Given the description of an element on the screen output the (x, y) to click on. 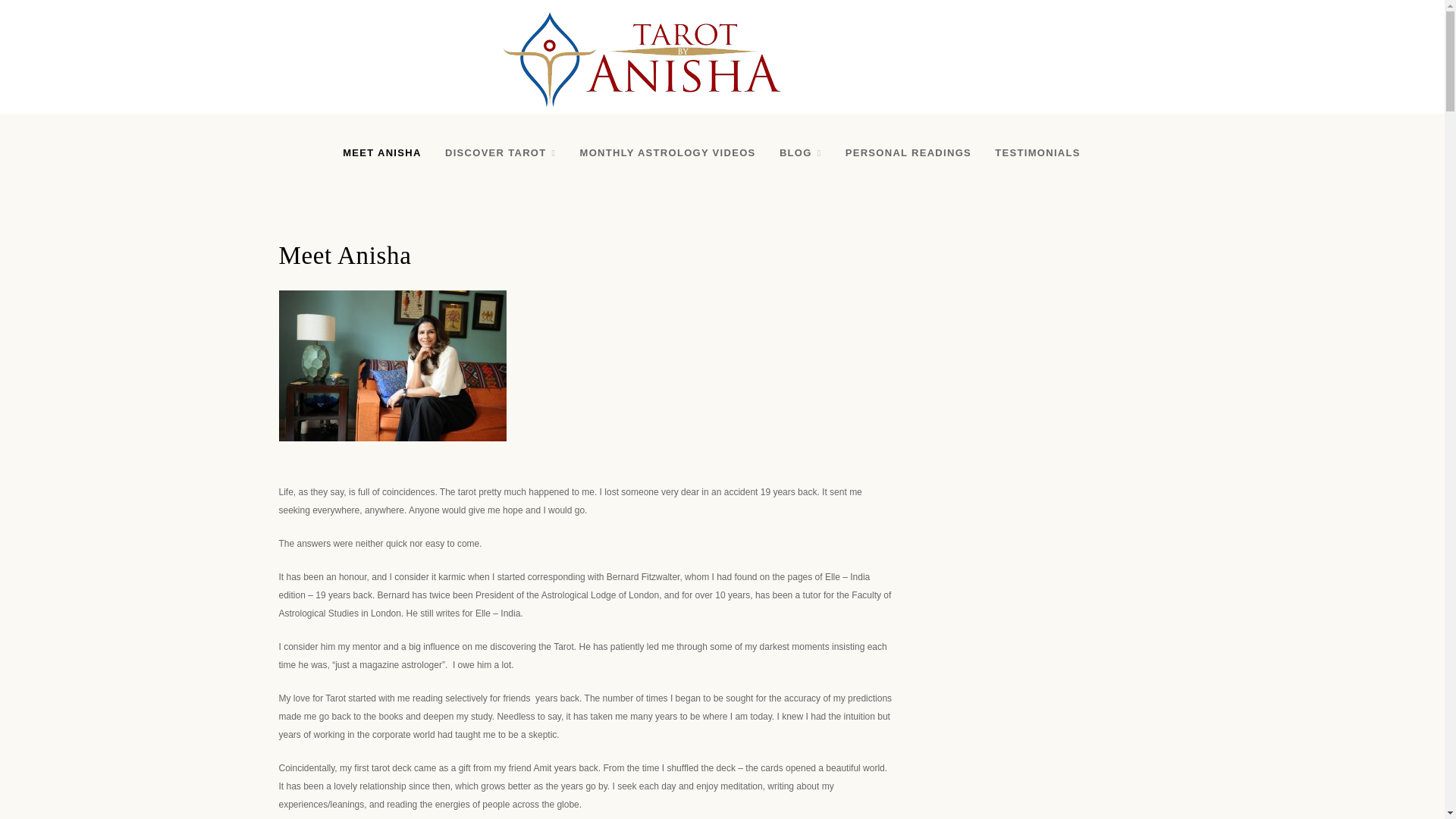
TESTIMONIALS (1037, 152)
MONTHLY ASTROLOGY VIDEOS (667, 152)
MEET ANISHA (381, 152)
DISCOVER TAROT (500, 152)
PERSONAL READINGS (908, 152)
